Given the description of an element on the screen output the (x, y) to click on. 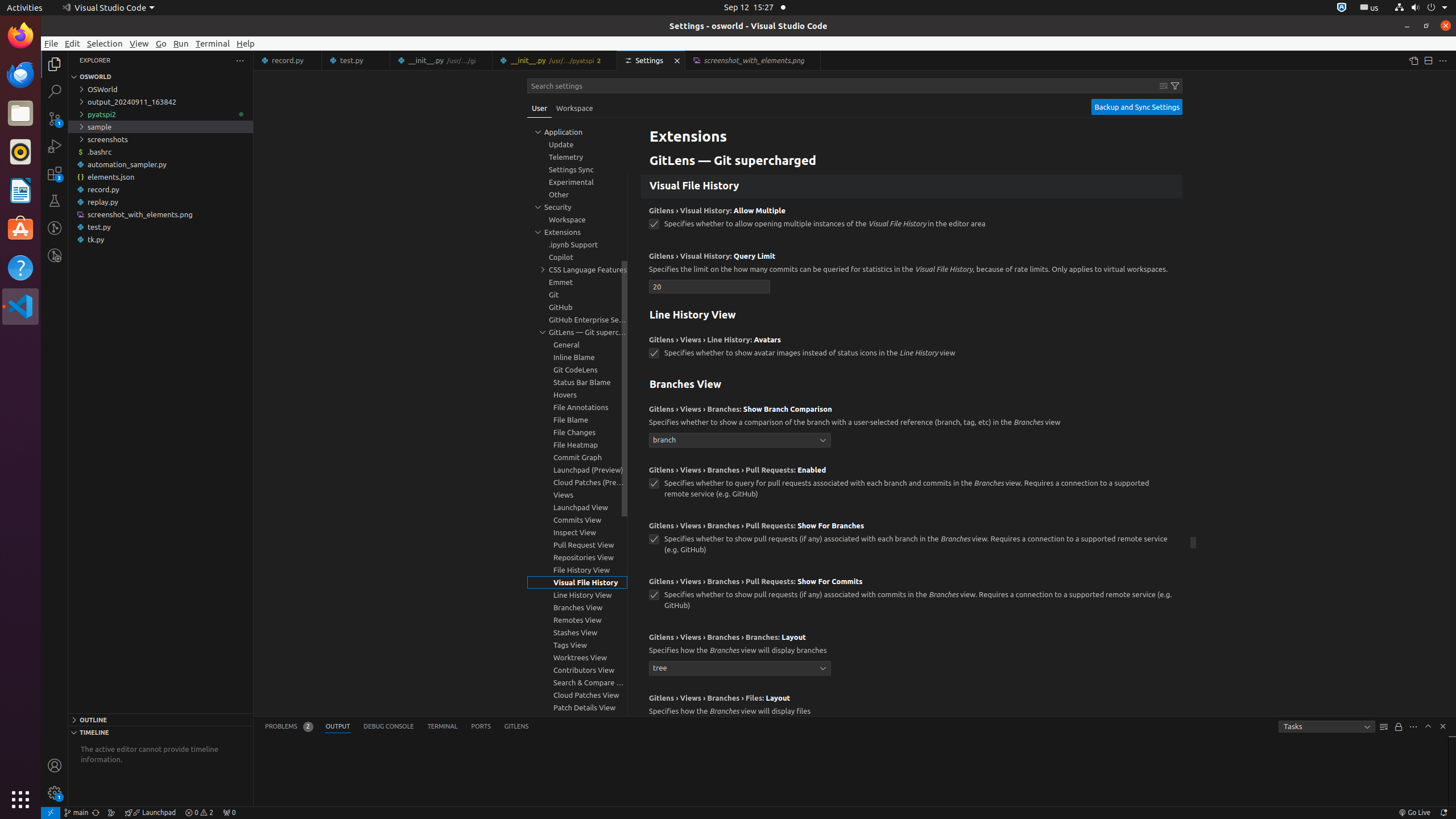
Repositories View, group Element type: tree-item (577, 557)
OSWorld Element type: tree-item (160, 89)
